Given the description of an element on the screen output the (x, y) to click on. 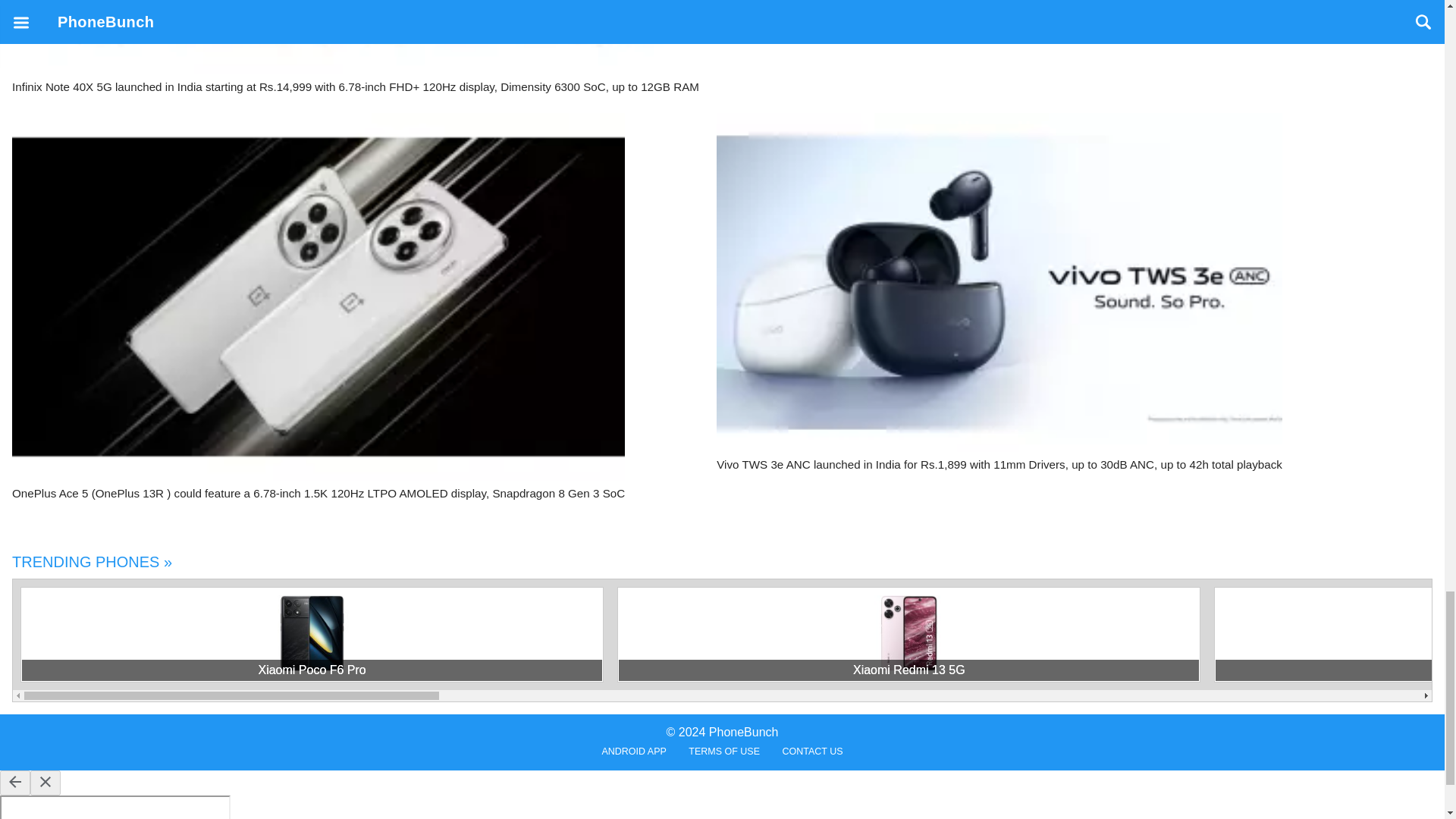
Xiaomi Poco F6 Pro (311, 670)
Xiaomi Redmi 13 5G (908, 670)
